Given the description of an element on the screen output the (x, y) to click on. 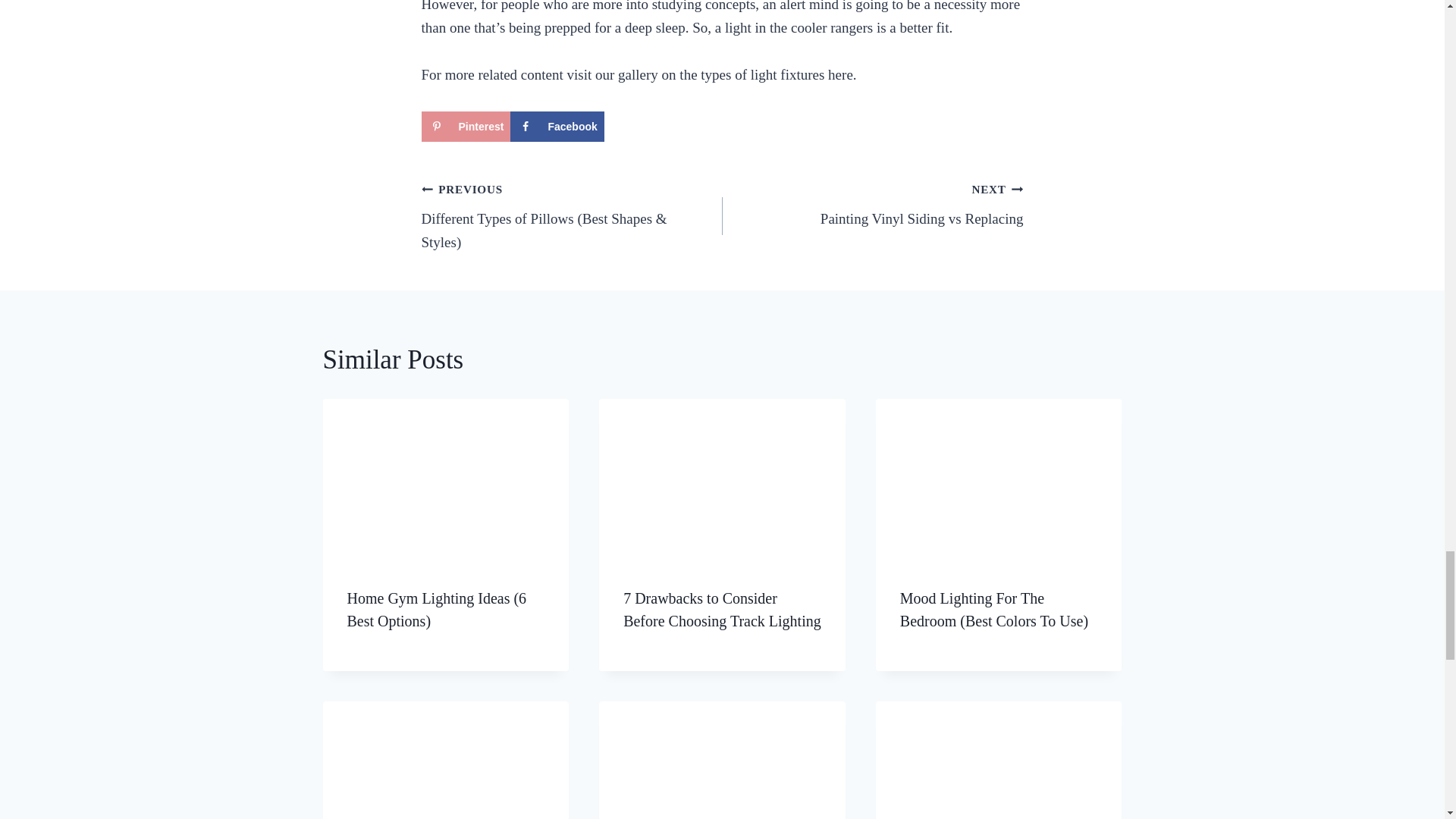
Share on Flipboard (650, 126)
Save to Pinterest (466, 126)
Share on Facebook (557, 126)
